Given the description of an element on the screen output the (x, y) to click on. 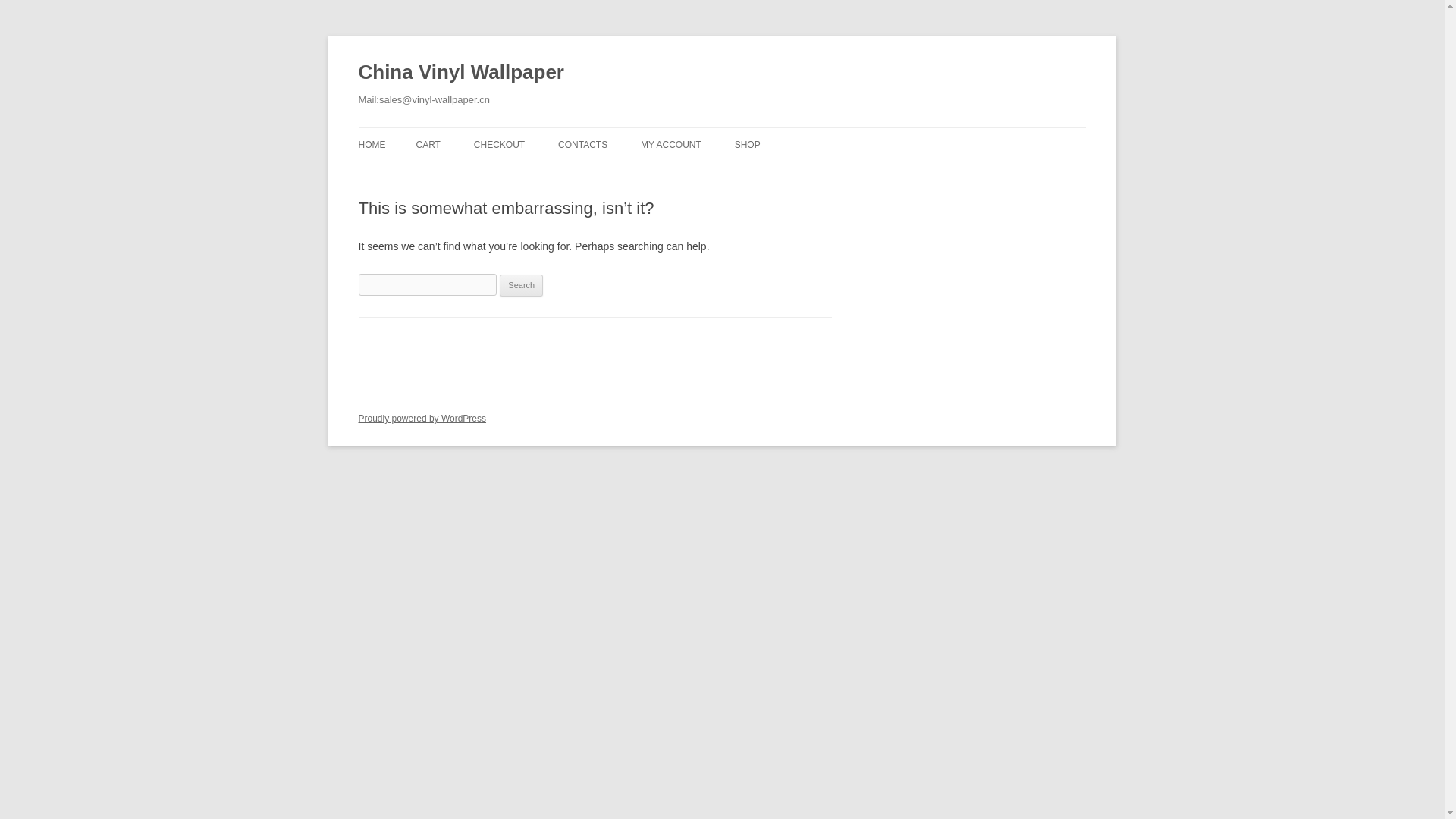
CONTACTS (582, 144)
Search (521, 285)
China Vinyl Wallpaper (460, 72)
China Vinyl Wallpaper (460, 72)
Search (521, 285)
CHECKOUT (499, 144)
MY ACCOUNT (670, 144)
